Given the description of an element on the screen output the (x, y) to click on. 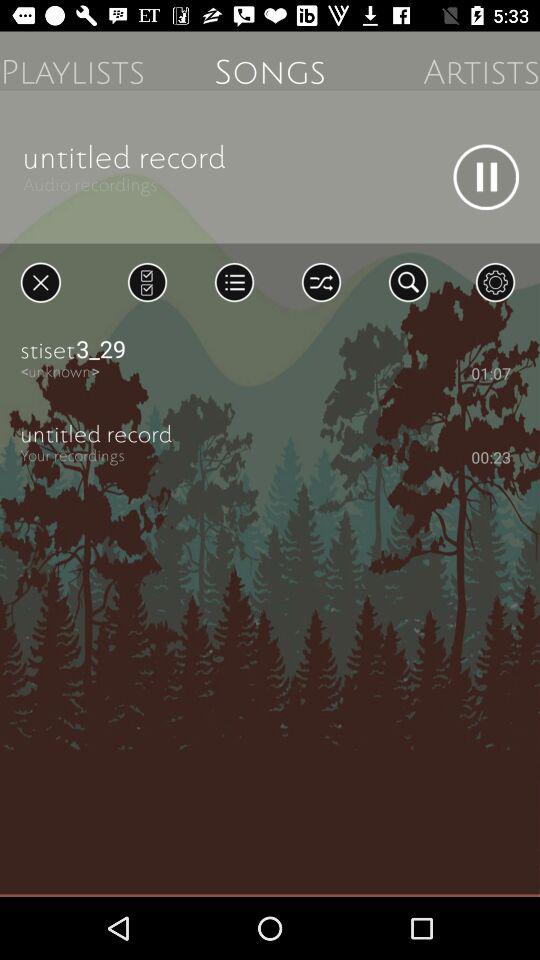
shuffle (321, 282)
